Given the description of an element on the screen output the (x, y) to click on. 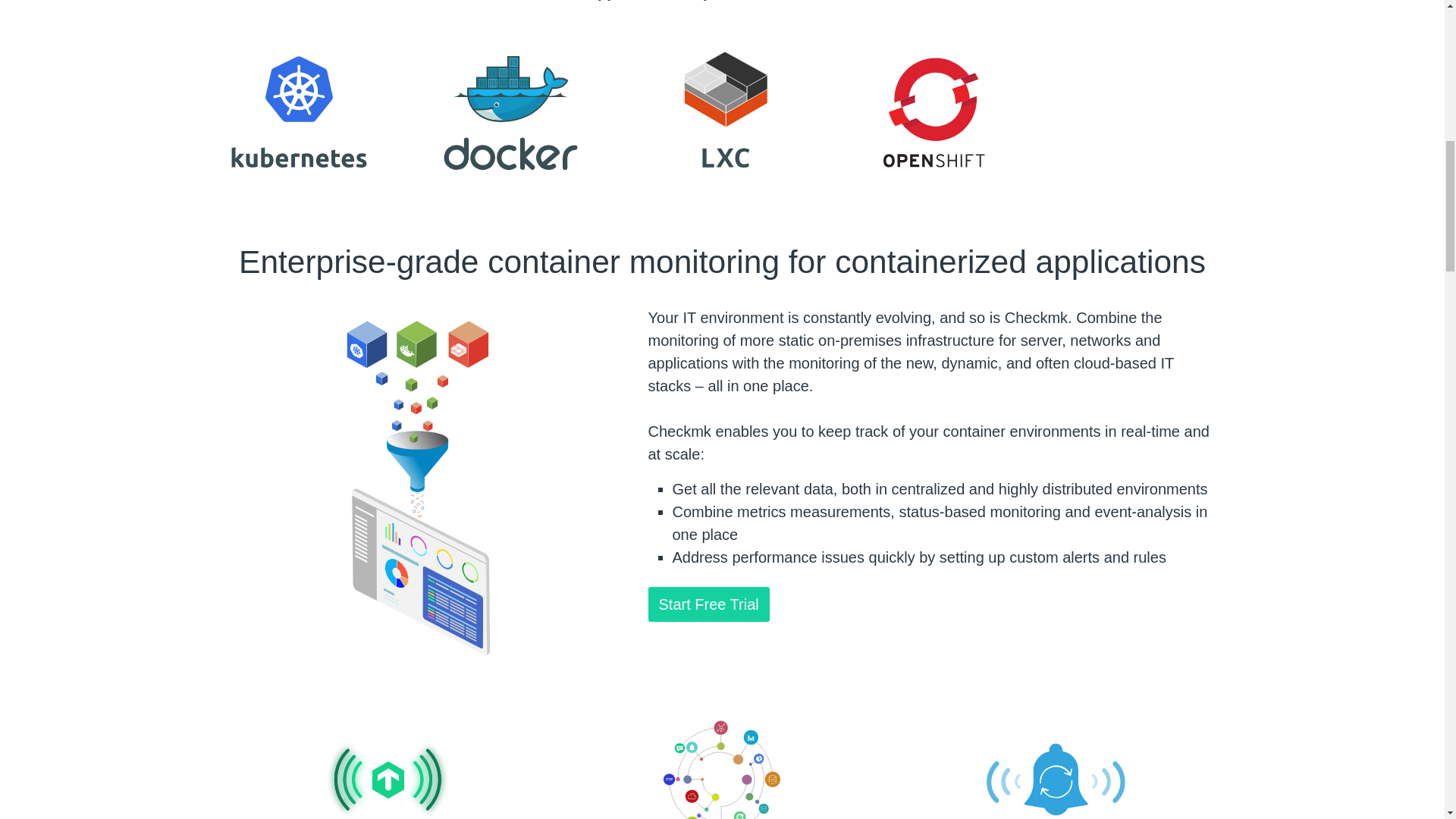
Unified insights (722, 769)
Unified insights (387, 769)
LXC monitoring (721, 113)
Dynamic Alerting (1055, 769)
Docker monitoring (510, 113)
Kubernetes monitoring (298, 113)
Openshift monitoring (933, 113)
